Given the description of an element on the screen output the (x, y) to click on. 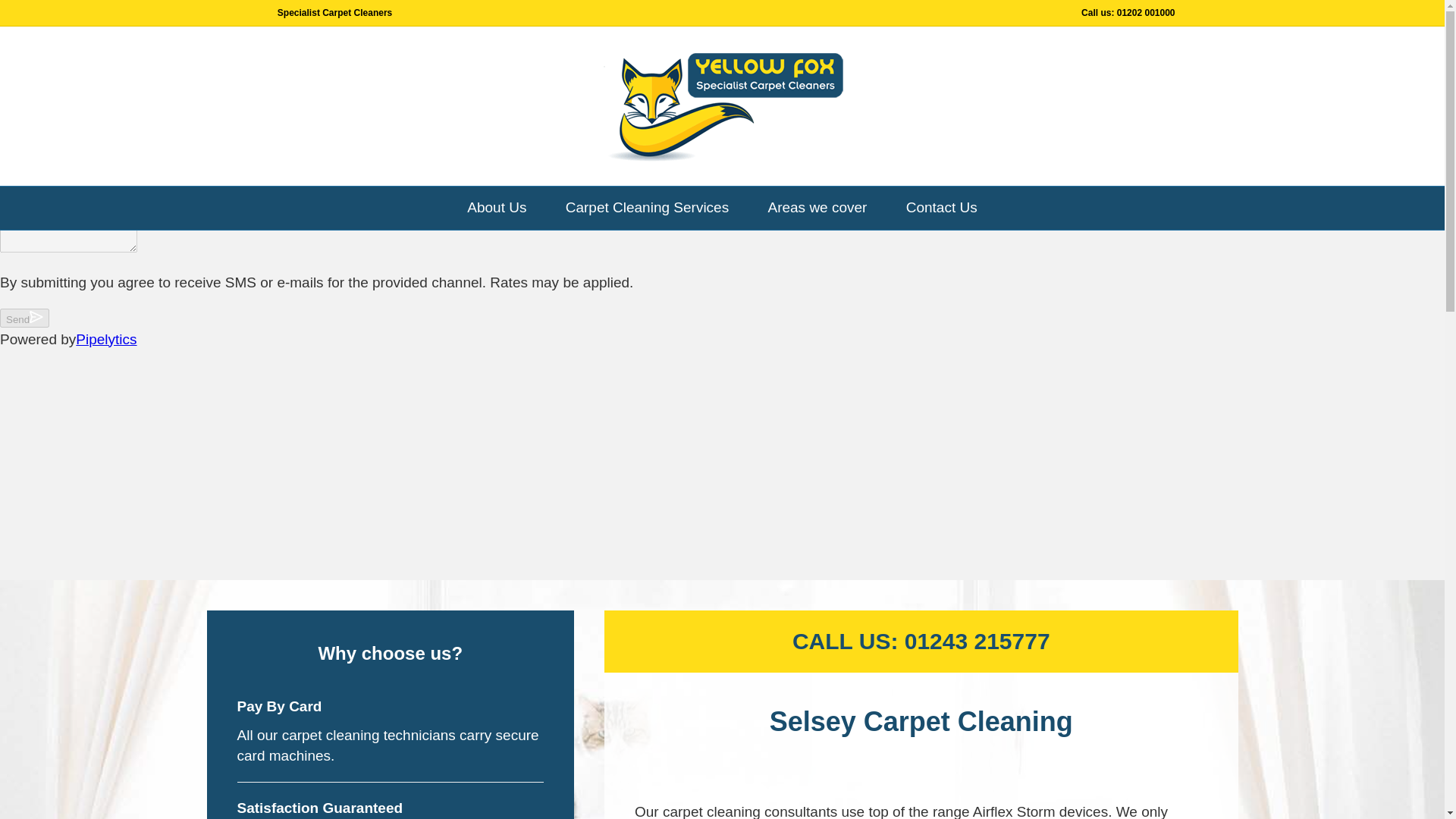
Contact Us (941, 208)
CALL US: 01243 215777 (920, 640)
About Us (496, 208)
CALL US: 01243 215777 (920, 640)
Carpet Cleaning Services (646, 208)
Areas we cover (816, 208)
